Given the description of an element on the screen output the (x, y) to click on. 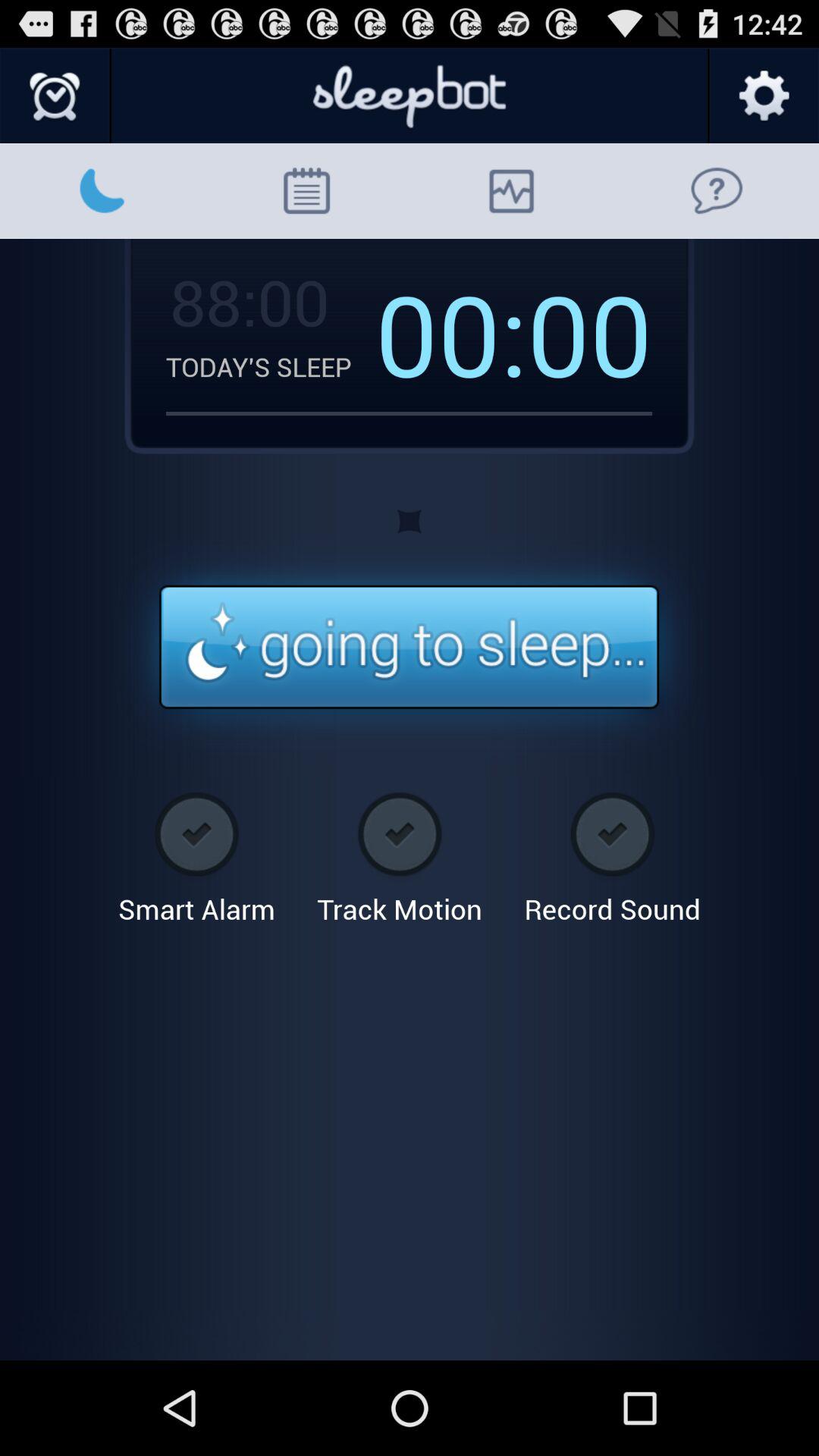
choose 88:00 (247, 301)
